Given the description of an element on the screen output the (x, y) to click on. 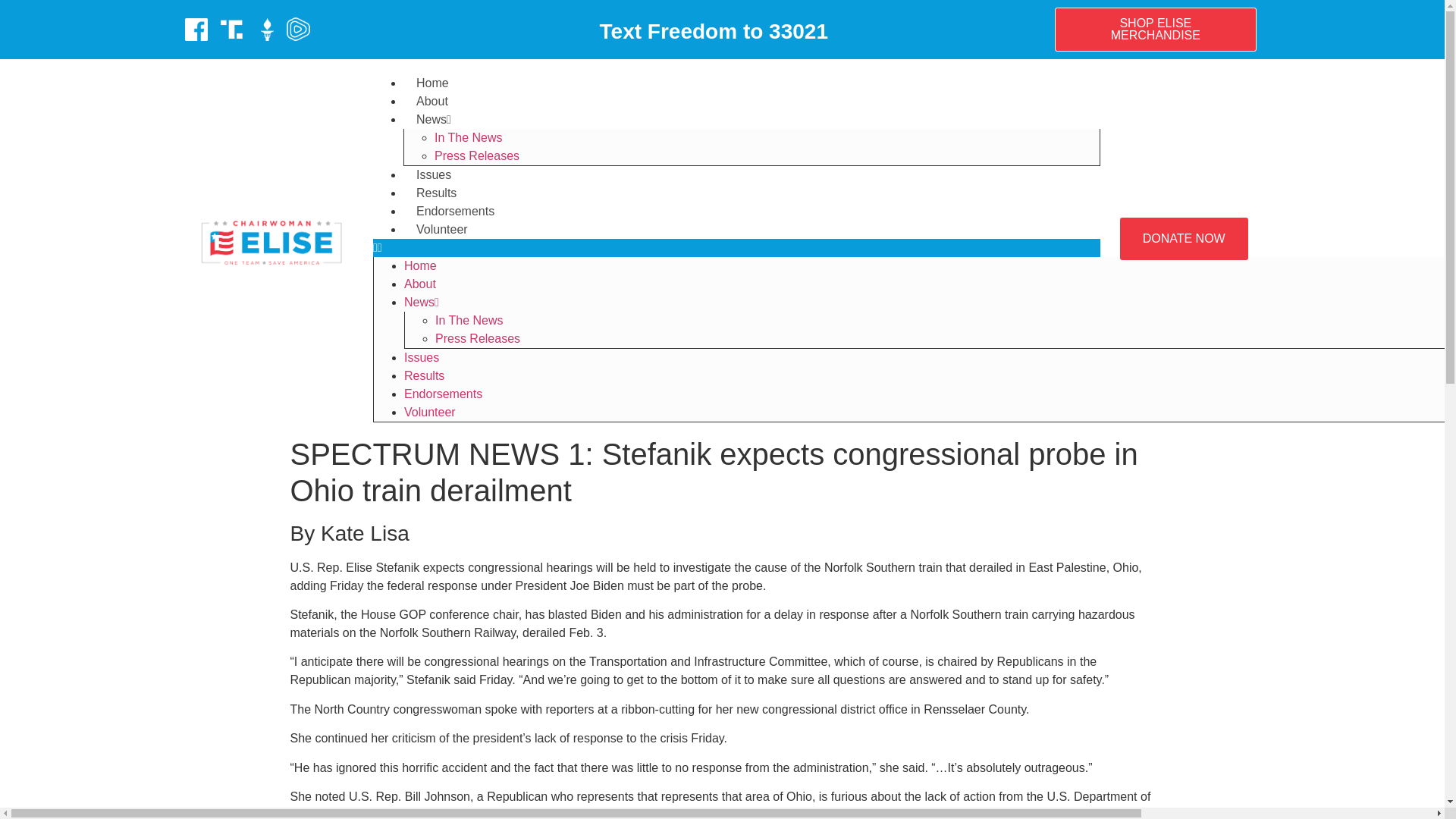
News (421, 301)
Press Releases (477, 338)
Volunteer (441, 228)
Results (424, 375)
DONATE NOW (1183, 238)
rumble-4560335-3789609 white (298, 28)
Home (420, 265)
In The News (469, 319)
SHOP ELISE MERCHANDISE (1155, 29)
About (432, 101)
